Given the description of an element on the screen output the (x, y) to click on. 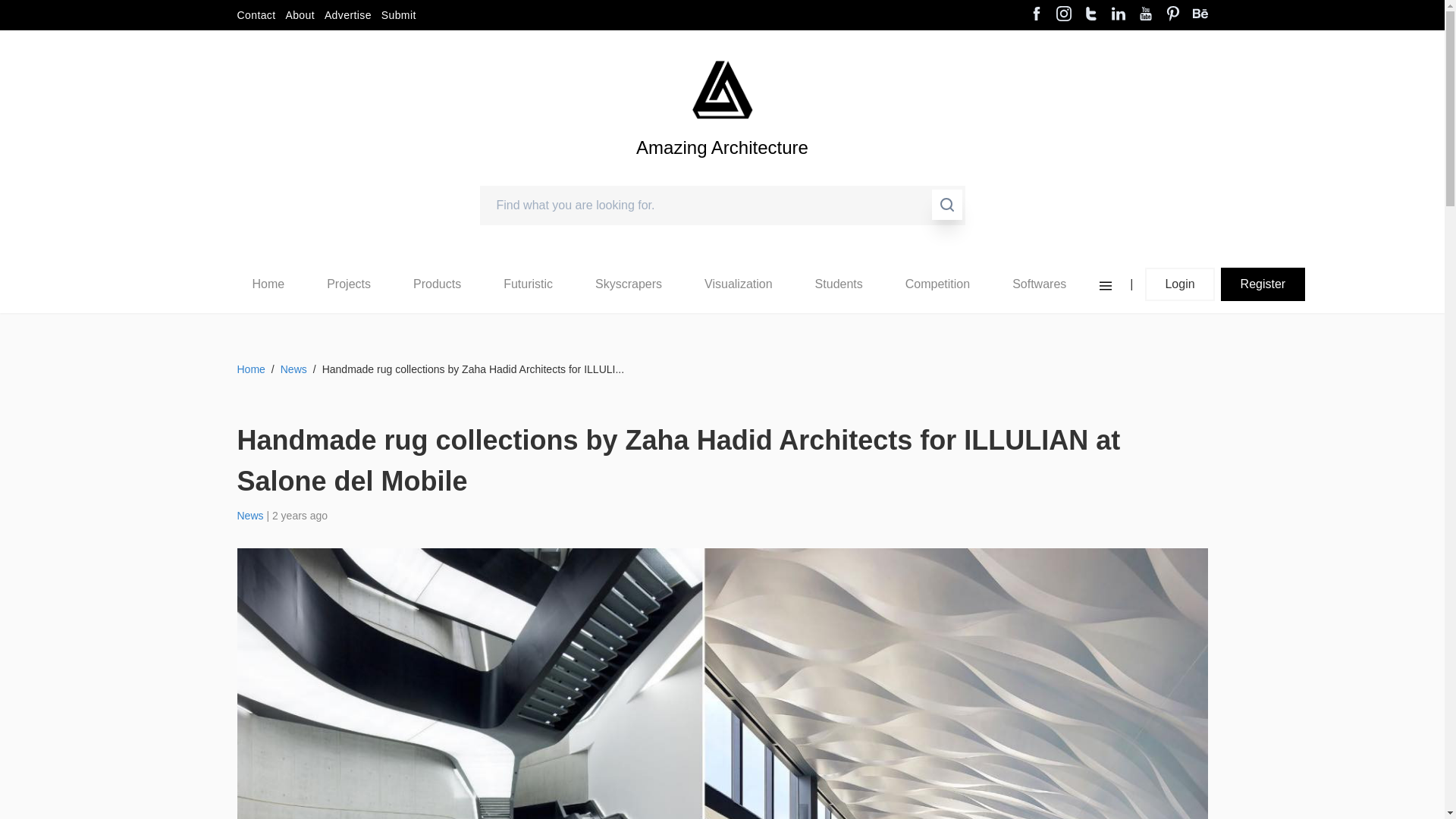
Projects (348, 283)
Amazing Architecture (721, 88)
Skyscrapers (628, 283)
Futuristic (528, 283)
Advertise (347, 15)
Amazing Architecture (722, 173)
Products (437, 283)
Home (267, 283)
Advertisement page (347, 15)
Amazing Architecture (722, 173)
Home (267, 284)
Submit page (398, 15)
About (299, 15)
Submit (398, 15)
Contact us page (255, 15)
